Given the description of an element on the screen output the (x, y) to click on. 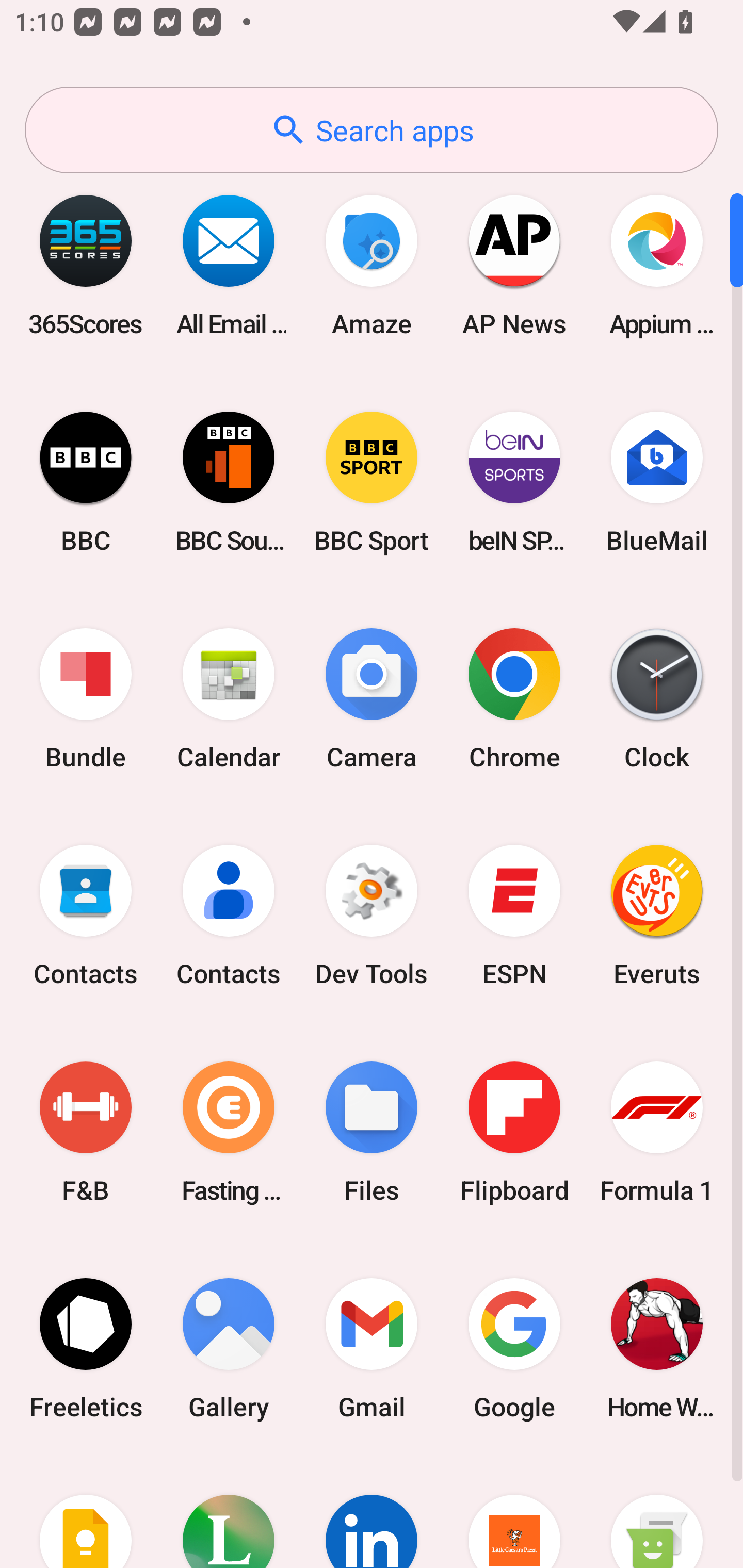
  Search apps (371, 130)
365Scores (85, 264)
All Email Connect (228, 264)
Amaze (371, 264)
AP News (514, 264)
Appium Settings (656, 264)
BBC (85, 482)
BBC Sounds (228, 482)
BBC Sport (371, 482)
beIN SPORTS (514, 482)
BlueMail (656, 482)
Bundle (85, 699)
Calendar (228, 699)
Camera (371, 699)
Chrome (514, 699)
Clock (656, 699)
Contacts (85, 915)
Contacts (228, 915)
Dev Tools (371, 915)
ESPN (514, 915)
Everuts (656, 915)
F&B (85, 1131)
Fasting Coach (228, 1131)
Files (371, 1131)
Flipboard (514, 1131)
Formula 1 (656, 1131)
Freeletics (85, 1348)
Gallery (228, 1348)
Gmail (371, 1348)
Google (514, 1348)
Home Workout (656, 1348)
Keep Notes (85, 1512)
Lifesum (228, 1512)
LinkedIn (371, 1512)
Little Caesars Pizza (514, 1512)
Messaging (656, 1512)
